Given the description of an element on the screen output the (x, y) to click on. 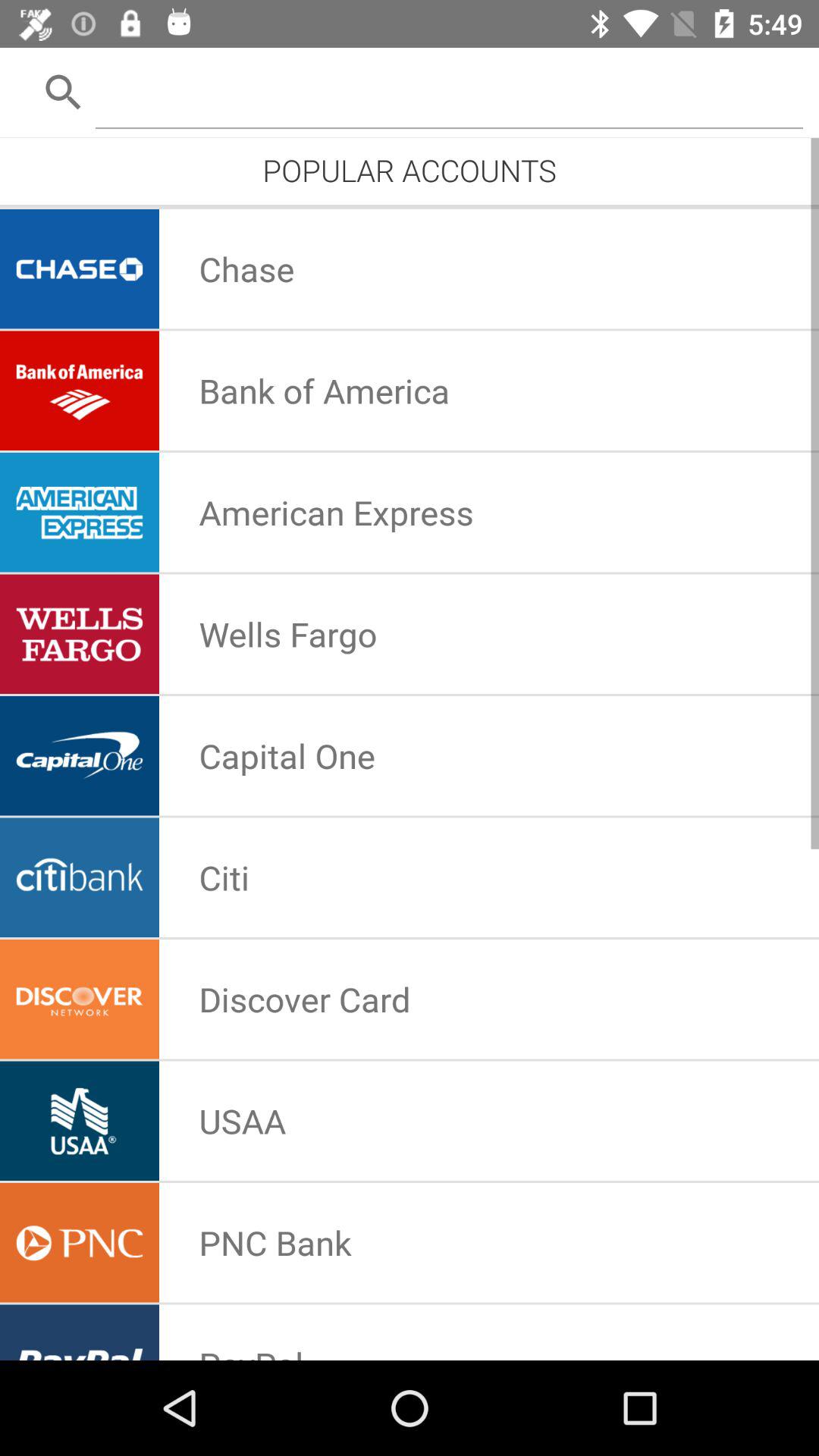
launch the item above citi icon (287, 755)
